Given the description of an element on the screen output the (x, y) to click on. 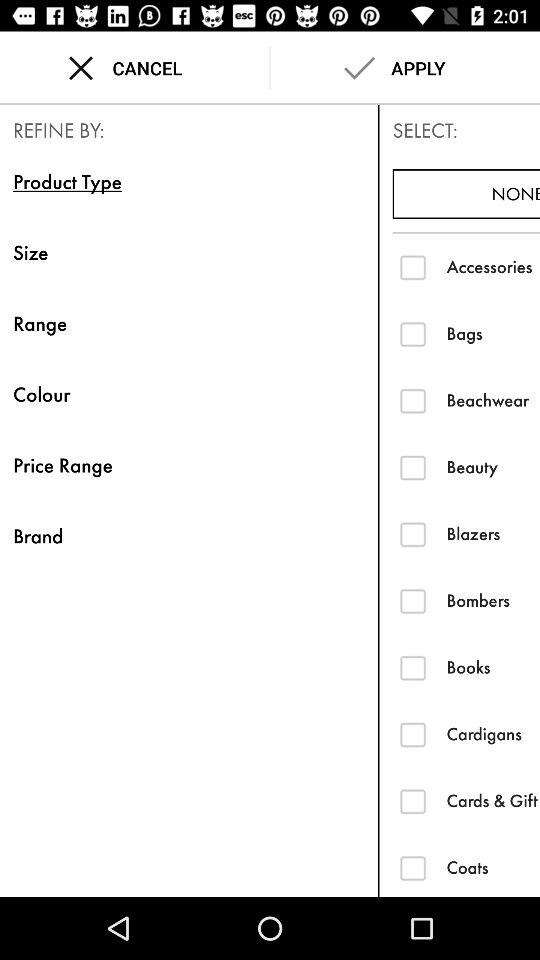
flip to books (493, 667)
